Given the description of an element on the screen output the (x, y) to click on. 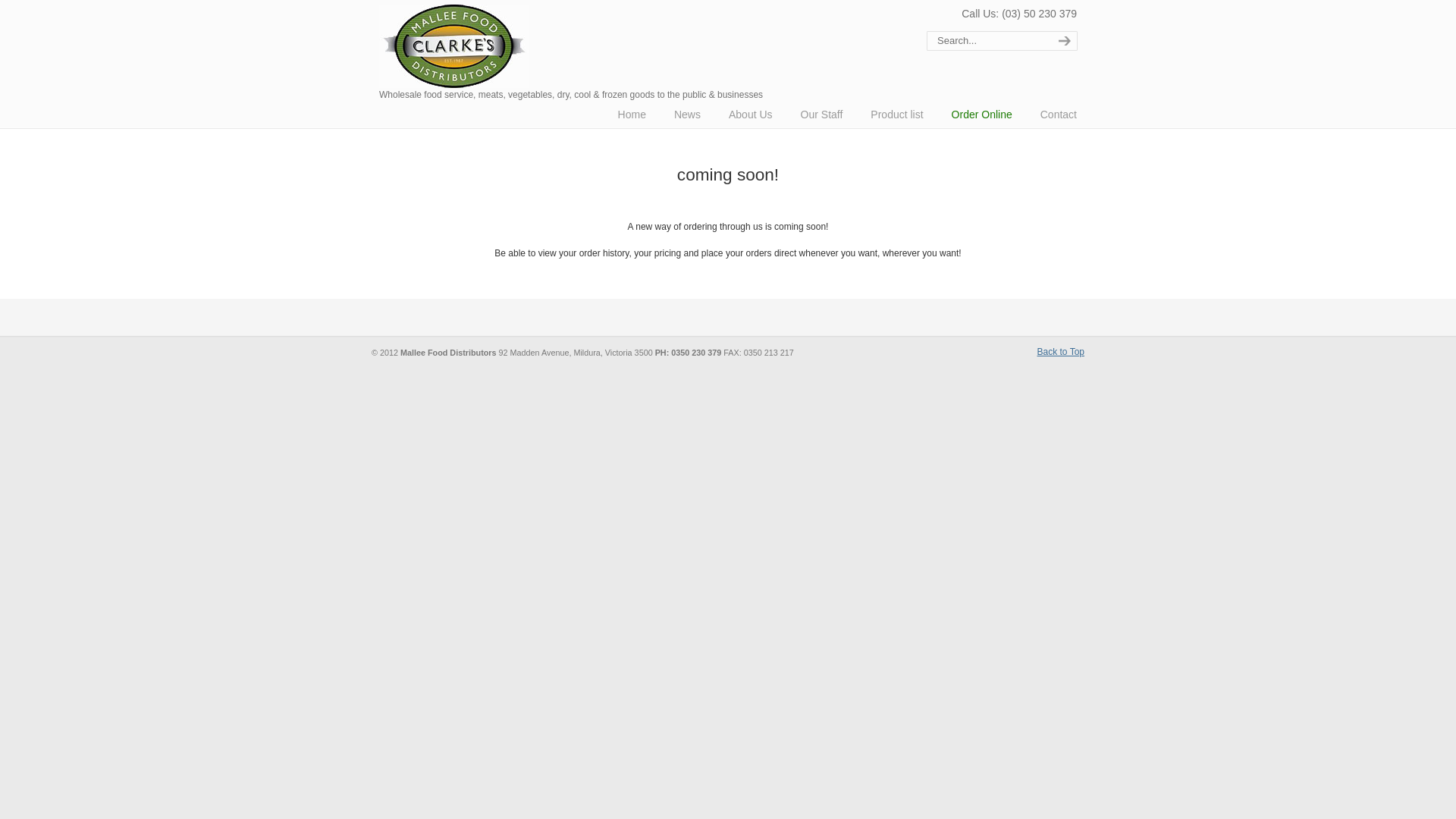
Our Staff Element type: text (821, 114)
About Us Element type: text (750, 114)
Product list Element type: text (896, 114)
Back to Top Element type: text (1060, 351)
Home Element type: text (631, 114)
News Element type: text (686, 114)
Clarke's Mallee Food Distributors Element type: text (454, 45)
Contact Element type: text (1058, 114)
Order Online Element type: text (981, 114)
